Given the description of an element on the screen output the (x, y) to click on. 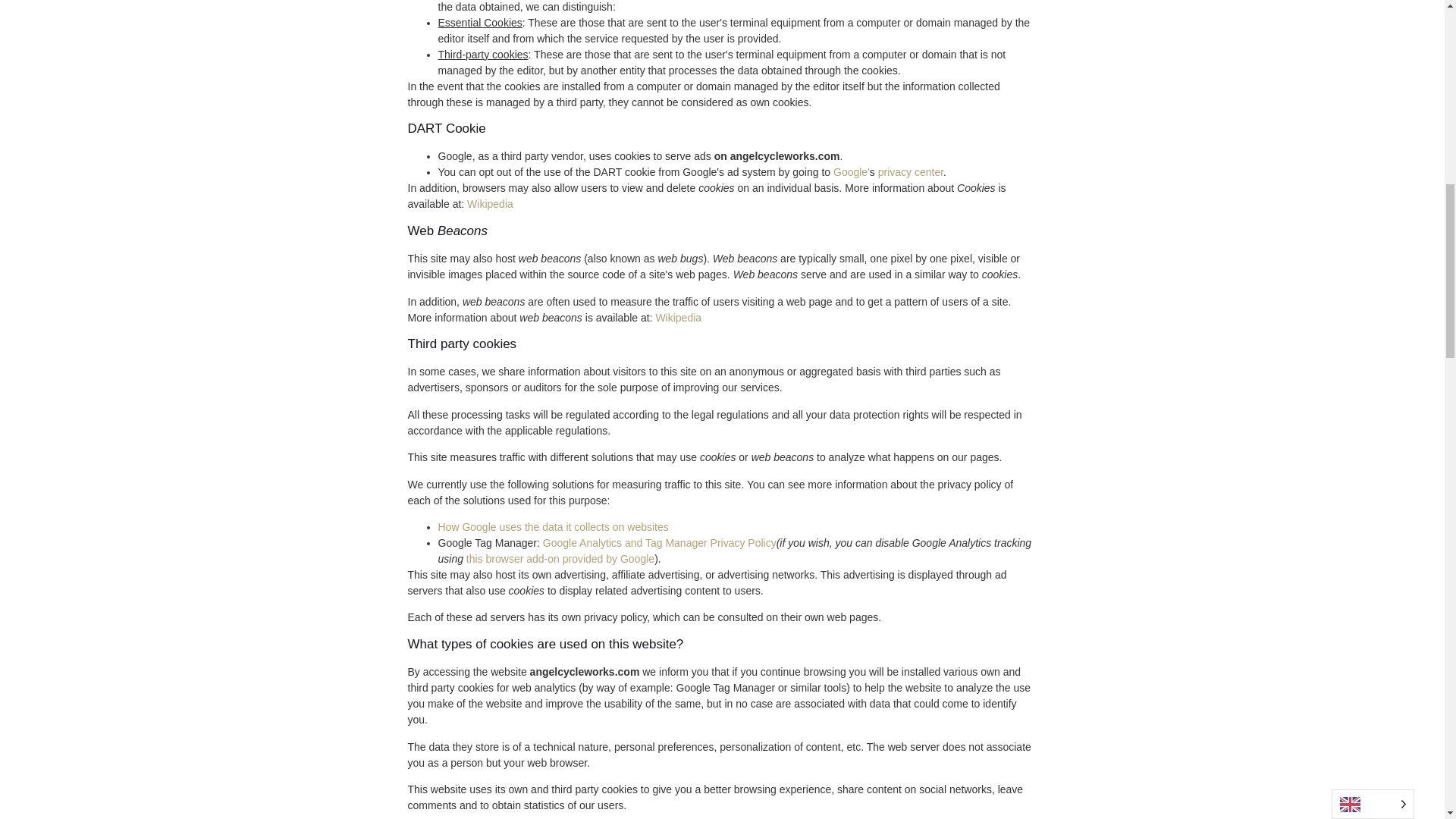
Google Analytics and Tag Manager Privacy Policy (659, 542)
Google' (850, 172)
Wikipedia (490, 203)
privacy center (910, 172)
Wikipedia (678, 317)
How Google uses the data it collects on websites (553, 526)
this browser add-on provided by Google (559, 558)
